Given the description of an element on the screen output the (x, y) to click on. 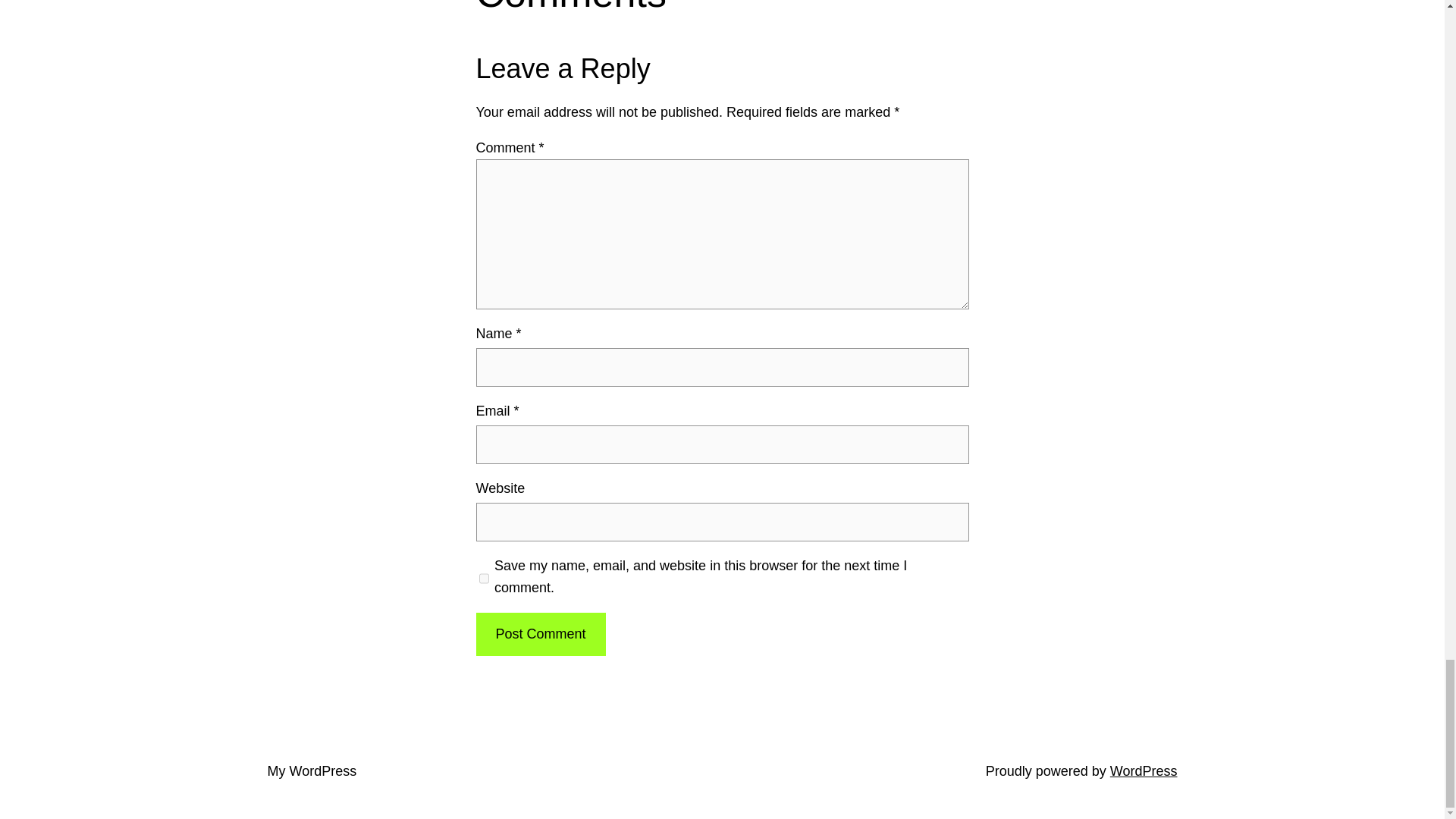
Post Comment (540, 634)
WordPress (1143, 770)
My WordPress (311, 770)
Post Comment (540, 634)
